Given the description of an element on the screen output the (x, y) to click on. 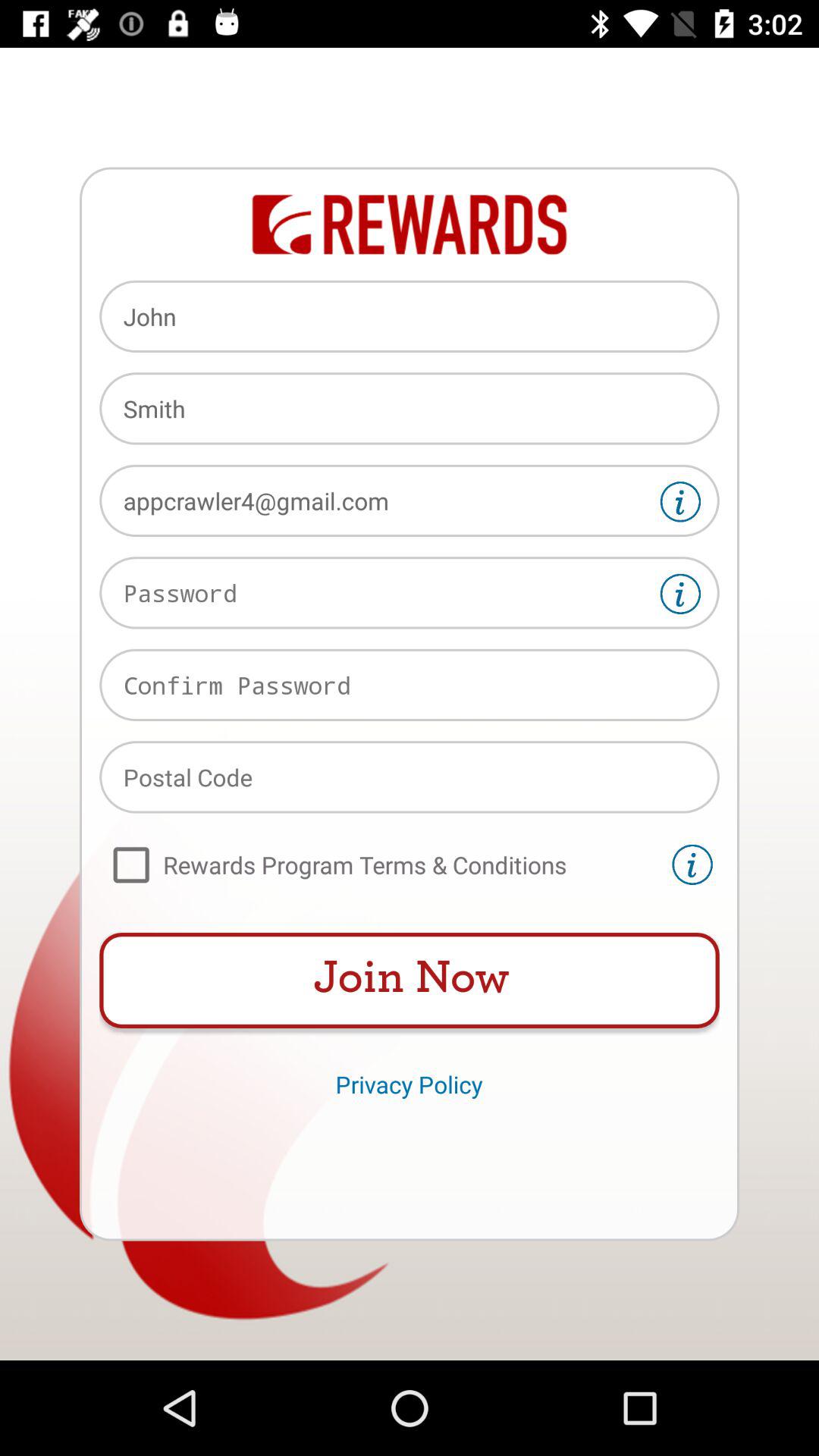
tap the item above the smith (409, 316)
